Given the description of an element on the screen output the (x, y) to click on. 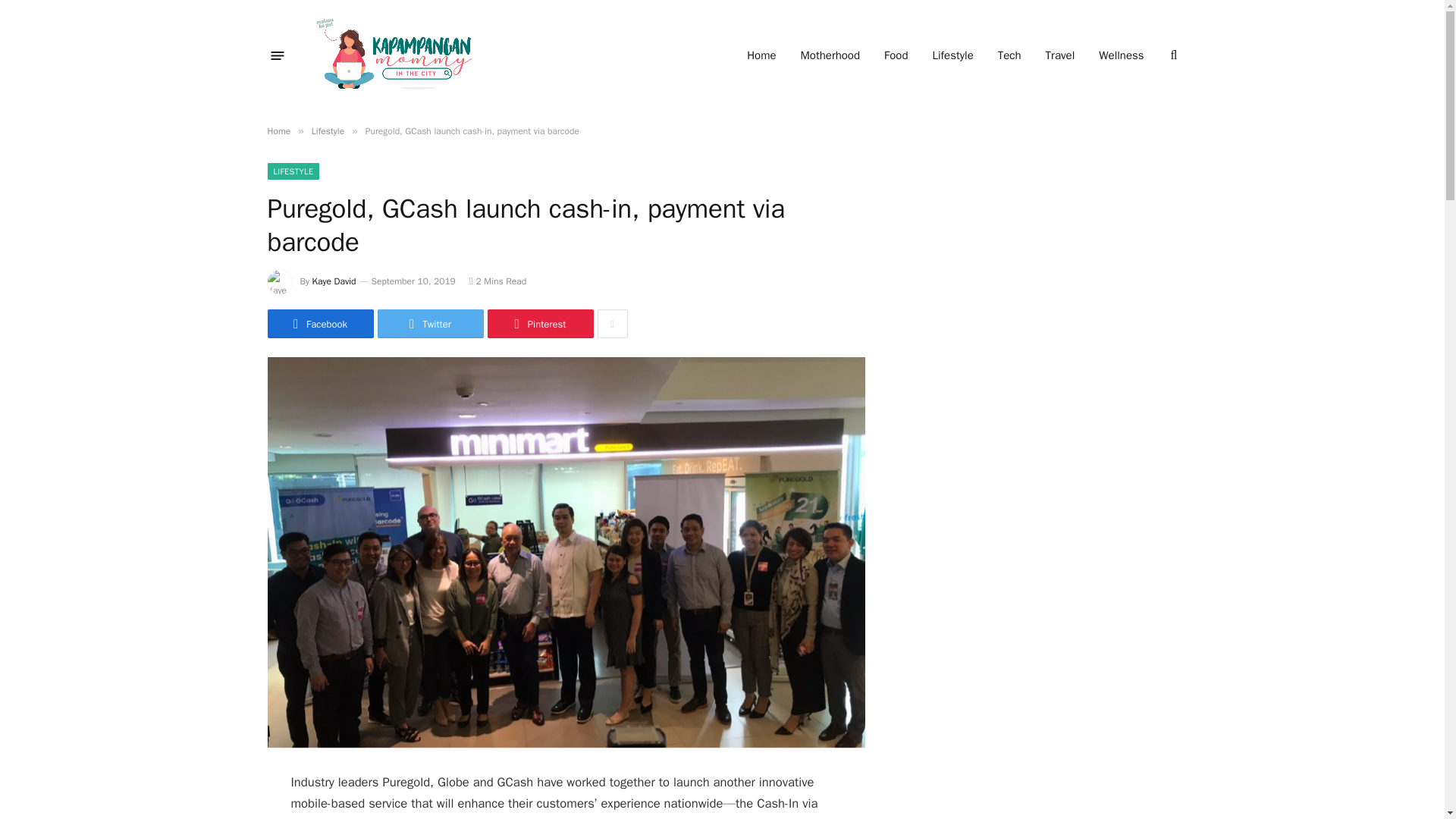
Kapampangan Mommy in the City (399, 55)
Share on Pinterest (539, 323)
Kaye David (334, 281)
Share on Facebook (319, 323)
Show More Social Sharing (611, 323)
Lifestyle (327, 131)
Twitter (430, 323)
Posts by Kaye David (334, 281)
Facebook (319, 323)
LIFESTYLE (292, 170)
Home (277, 131)
Pinterest (539, 323)
